Given the description of an element on the screen output the (x, y) to click on. 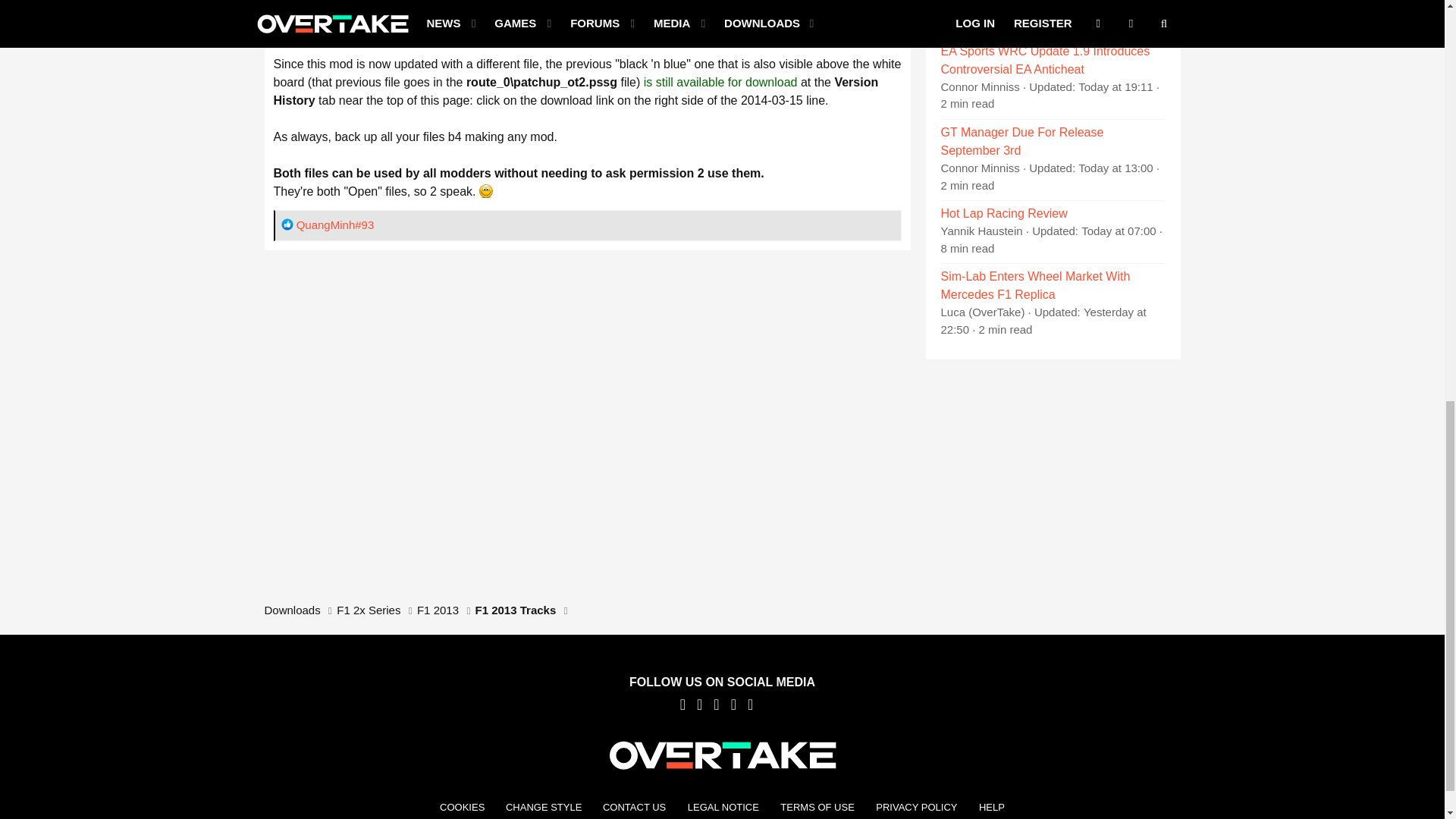
Jul 17, 2024 at 21:50 (1122, 6)
Jul 17, 2024 at 19:11 (1115, 86)
Jul 16, 2024 at 22:50 (1042, 320)
Jul 17, 2024 at 13:00 (1115, 167)
Like (286, 224)
Jul 17, 2024 at 07:00 (1118, 230)
